Given the description of an element on the screen output the (x, y) to click on. 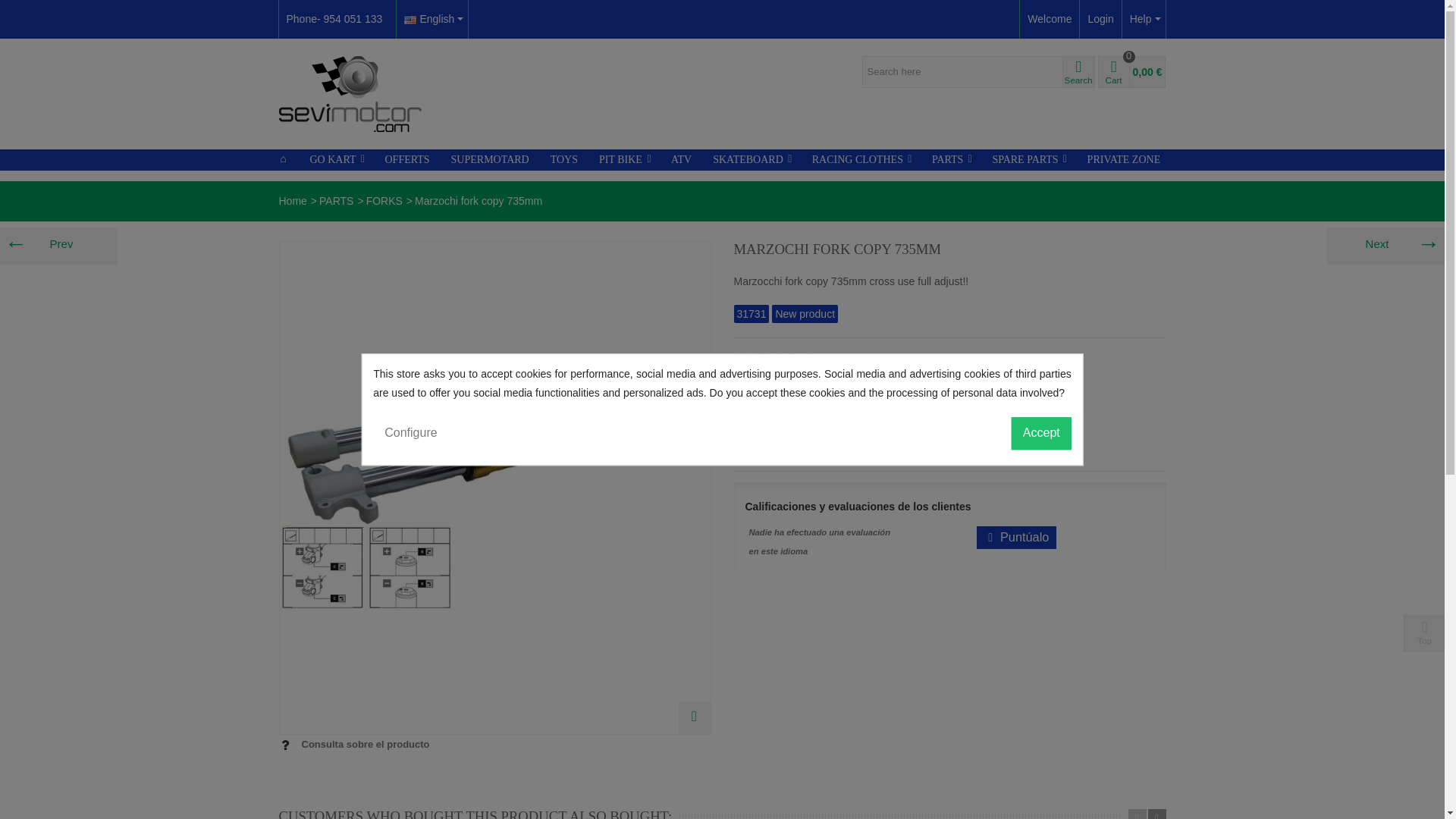
Return to Home (293, 200)
Login (1099, 19)
View my shopping cart (1131, 71)
OFFERTS (407, 159)
PIT BIKE (624, 159)
Search (1078, 71)
SUPERMOTARD (490, 159)
FORKS (384, 200)
GO KART (336, 159)
Log in to your customer account (1099, 19)
PARTS (335, 200)
Sevimotor Pit Bikes S.L. (350, 92)
ATV (681, 159)
TOYS (564, 159)
1 (748, 440)
